Given the description of an element on the screen output the (x, y) to click on. 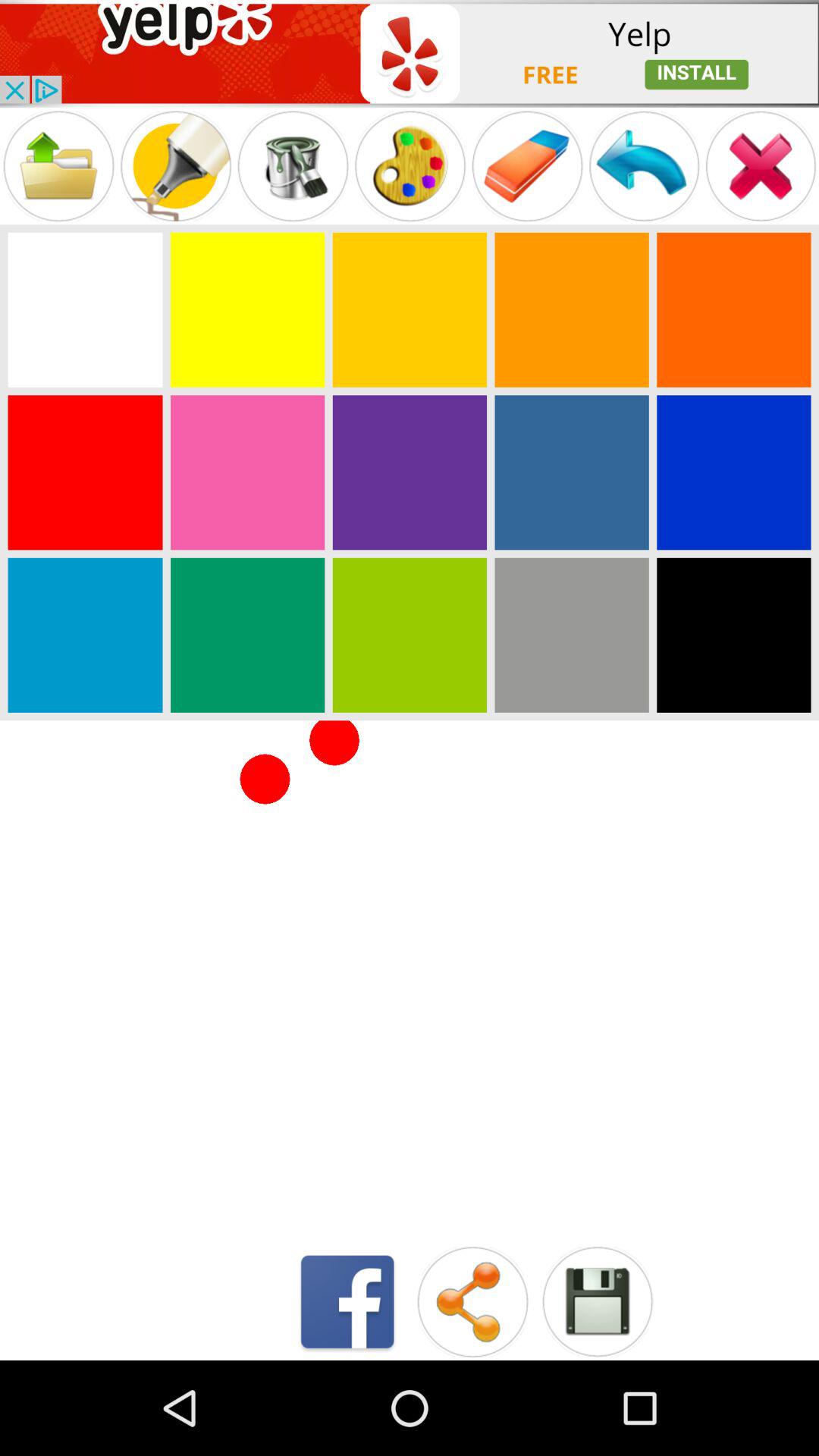
save button (597, 1301)
